Given the description of an element on the screen output the (x, y) to click on. 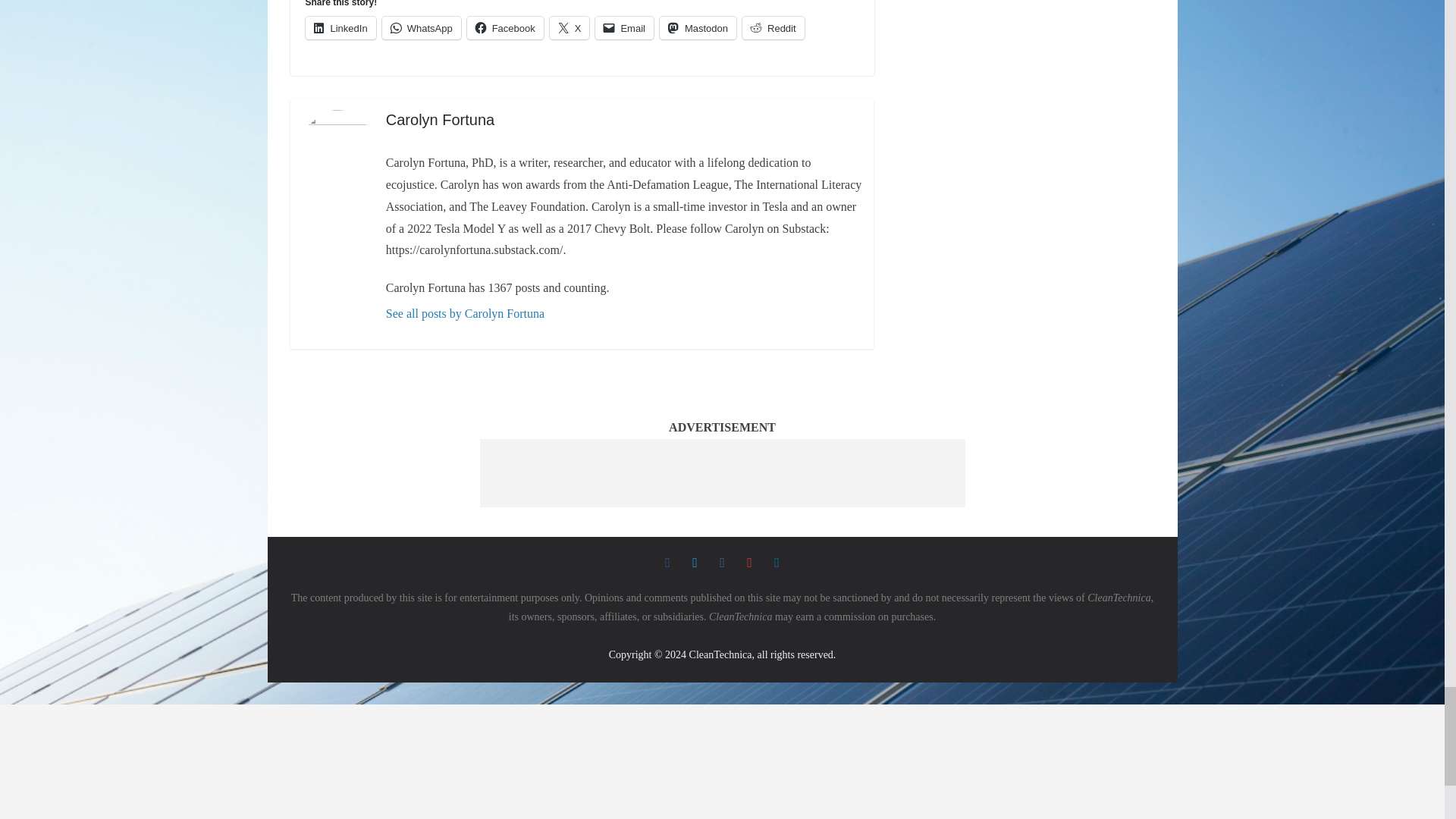
Click to email a link to a friend (624, 27)
Click to share on LinkedIn (339, 27)
Click to share on Reddit (773, 27)
Click to share on X (569, 27)
Click to share on Facebook (505, 27)
Click to share on Mastodon (697, 27)
Click to share on WhatsApp (421, 27)
